Given the description of an element on the screen output the (x, y) to click on. 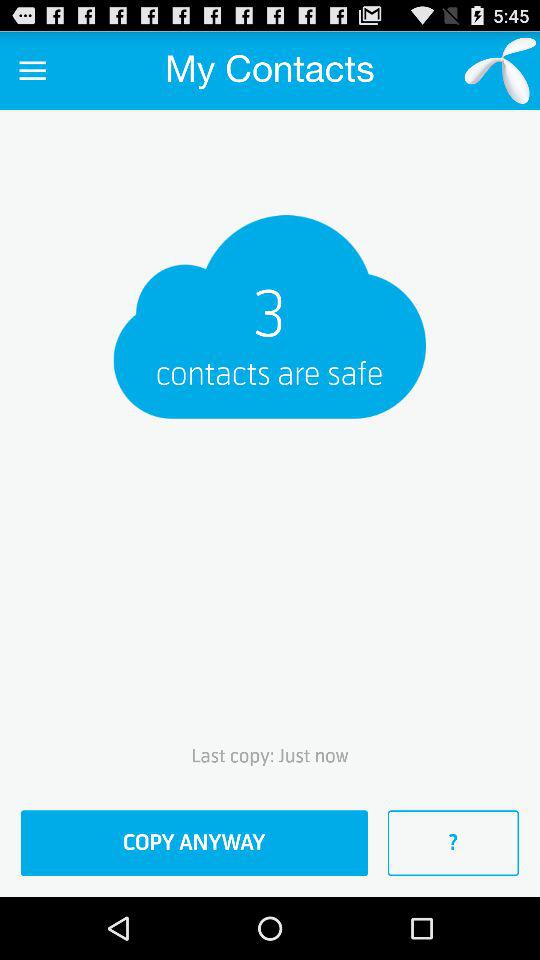
launch the  ?  at the bottom right corner (453, 843)
